Given the description of an element on the screen output the (x, y) to click on. 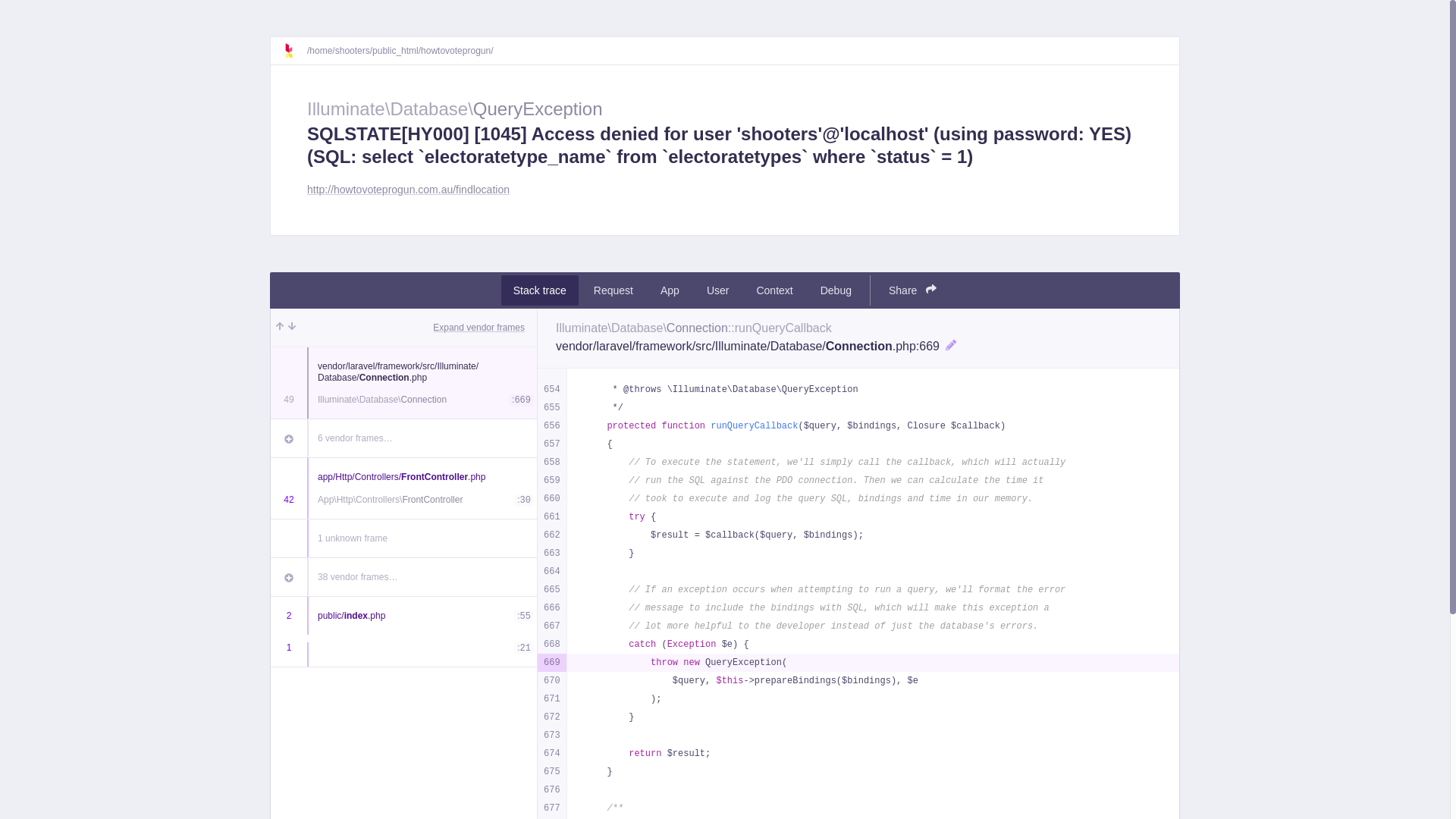
Ignition docs Element type: hover (294, 50)
Stack trace Element type: text (539, 290)
Frame down (Key:J) Element type: hover (291, 327)
Request Element type: text (613, 290)
User Element type: text (717, 290)
Frame up (Key:K) Element type: hover (279, 327)
Expand vendor frames Element type: text (478, 327)
Share Element type: text (912, 290)
Context Element type: text (773, 290)
App Element type: text (669, 290)
http://howtovoteprogun.com.au/findlocation Element type: text (408, 190)
Debug Element type: text (835, 290)
